Given the description of an element on the screen output the (x, y) to click on. 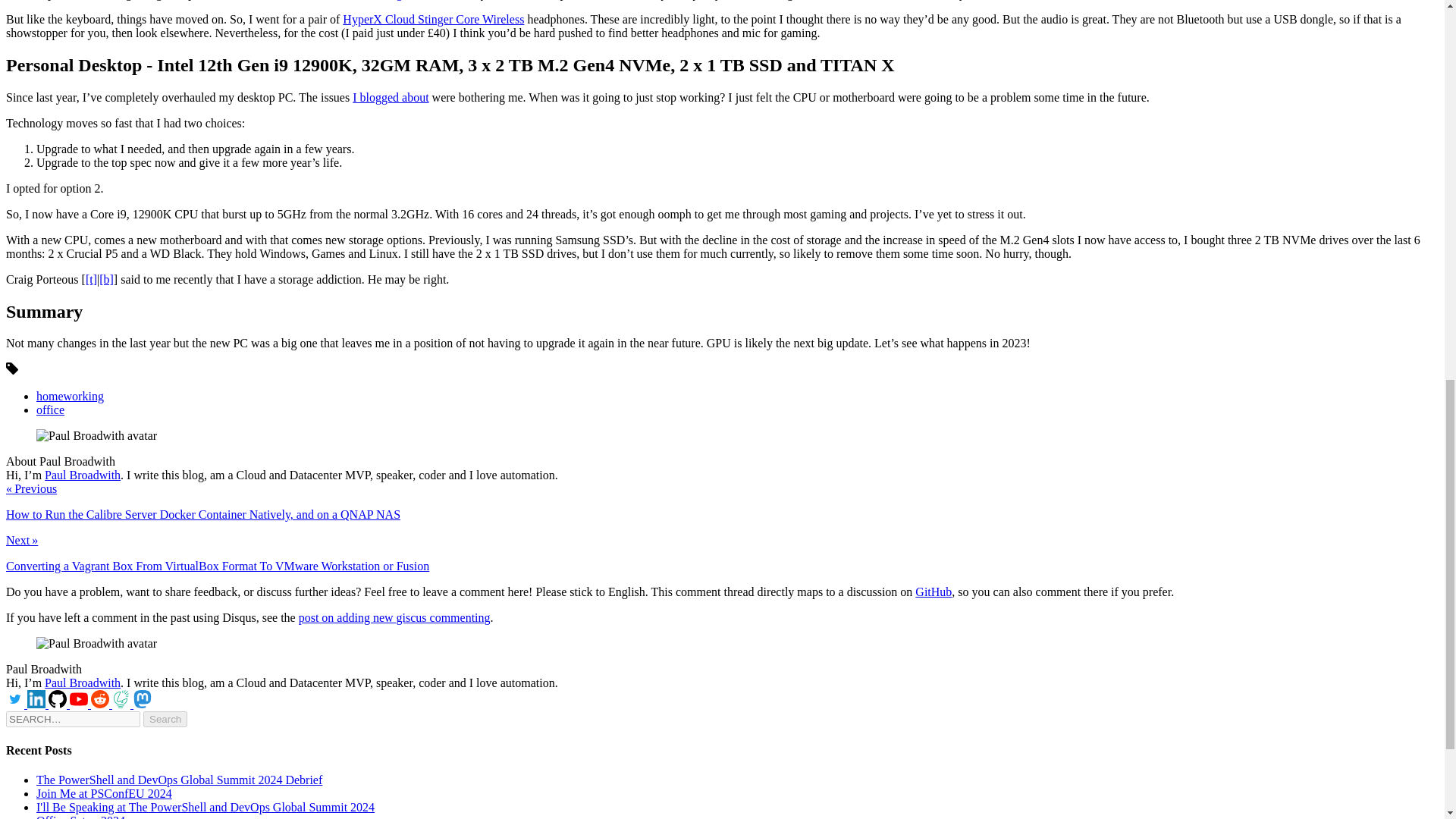
Sessionize (122, 703)
I blogged about (390, 97)
post on adding new giscus commenting (394, 617)
homeworking (69, 395)
LinkedIn (37, 703)
Search (164, 719)
GitHub (933, 591)
Twitter (16, 703)
office (50, 409)
Search (164, 719)
HyperX Cloud Stinger Core Wireless (433, 19)
GitHub (58, 703)
Mastodon (142, 703)
YouTube (79, 703)
Reddit (101, 703)
